Given the description of an element on the screen output the (x, y) to click on. 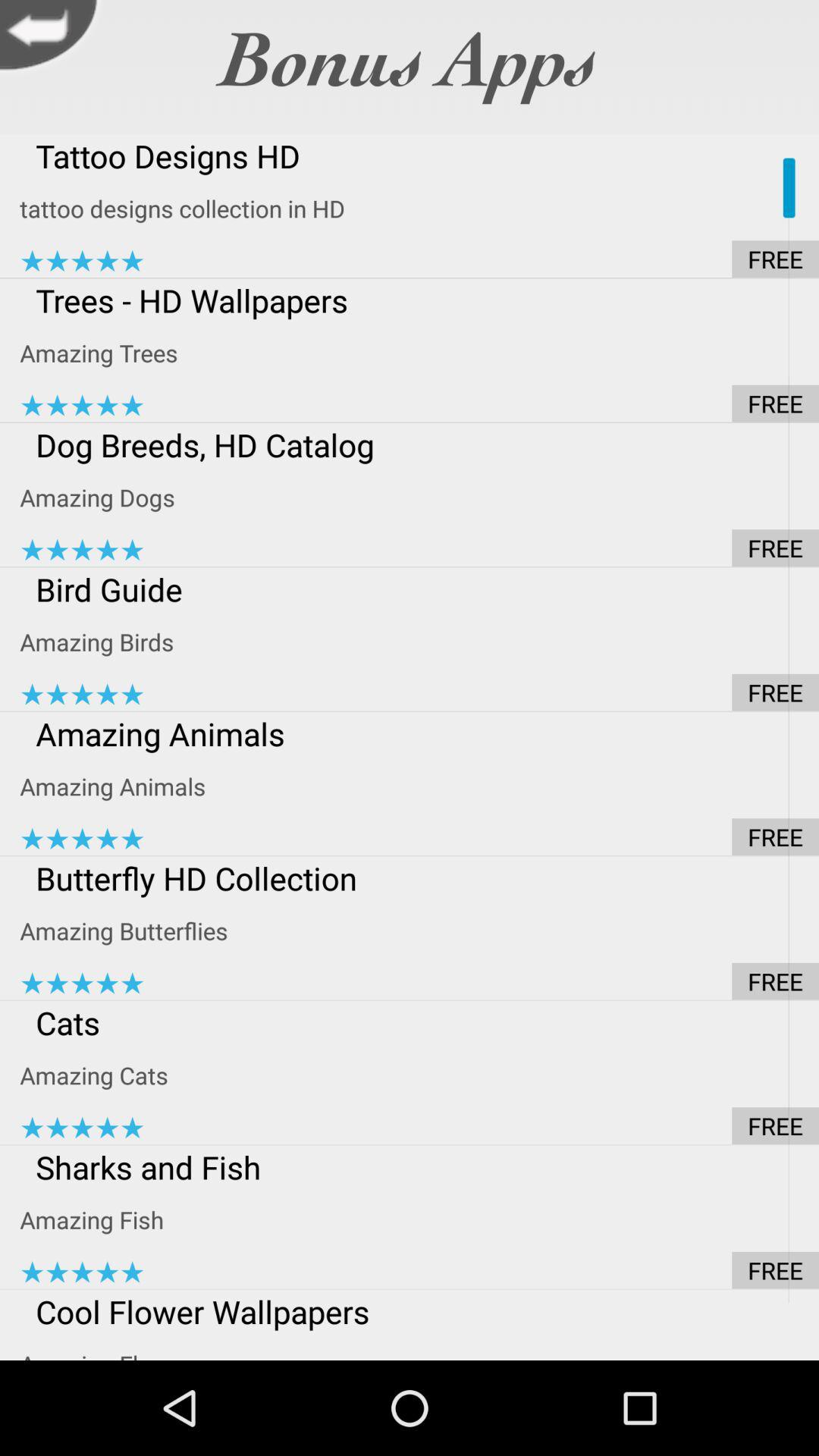
turn on app below the amazing butterflies  item (419, 980)
